Given the description of an element on the screen output the (x, y) to click on. 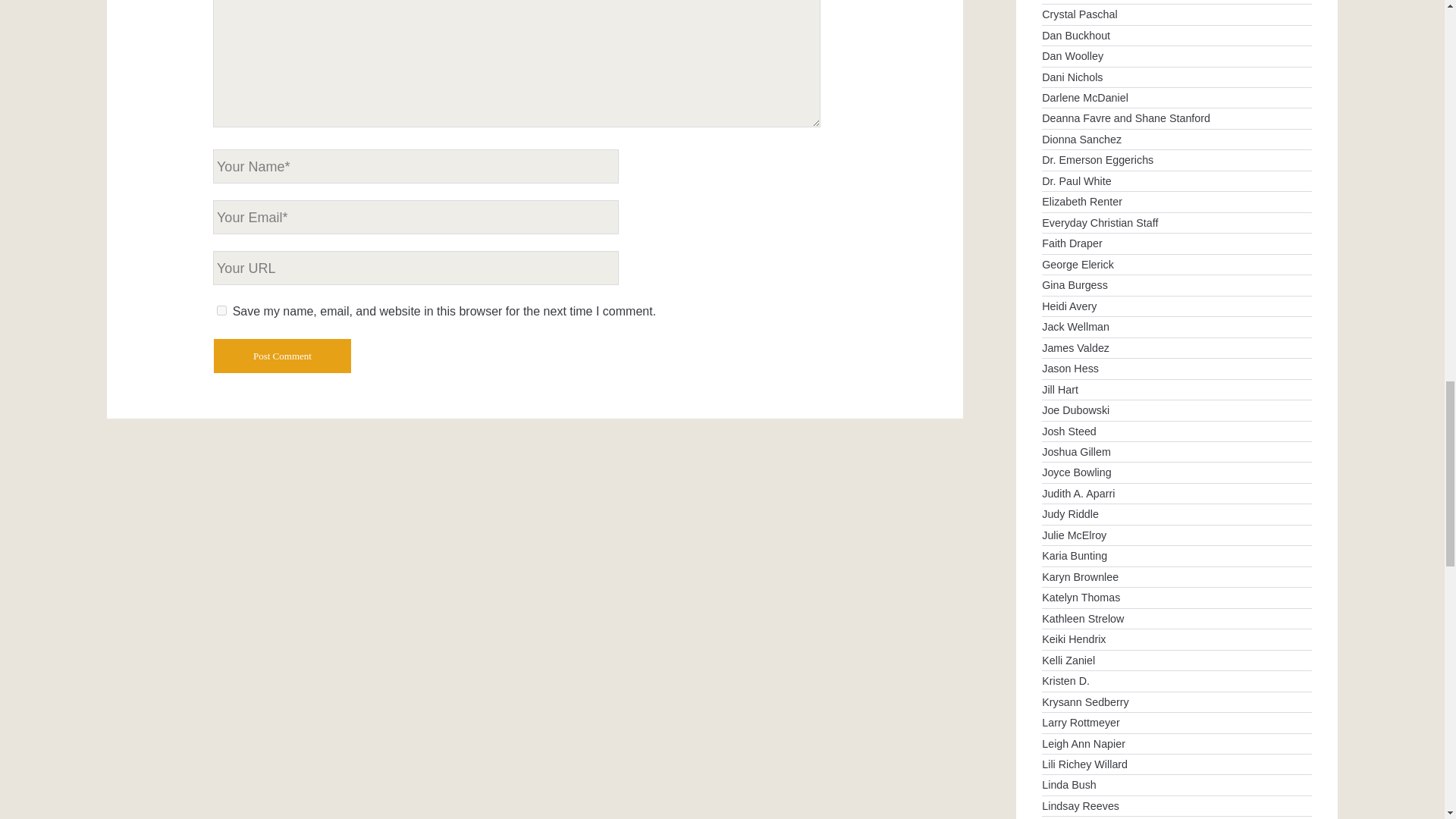
Post Comment (282, 356)
yes (221, 310)
Post Comment (282, 356)
